Given the description of an element on the screen output the (x, y) to click on. 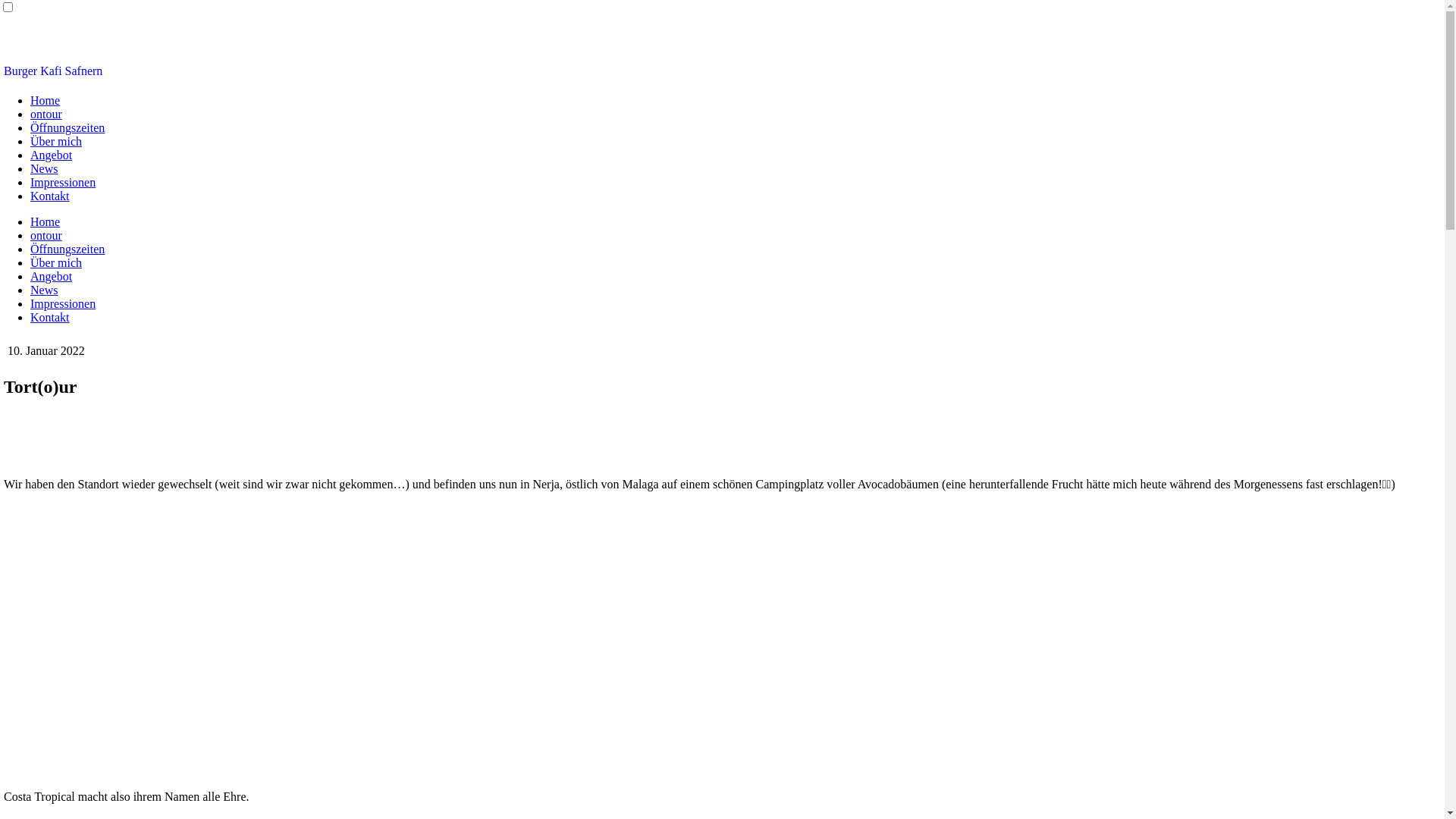
ontour Element type: text (46, 235)
Home Element type: text (44, 221)
Impressionen Element type: text (62, 181)
ontour Element type: text (46, 113)
News Element type: text (43, 168)
Impressionen Element type: text (62, 303)
Kontakt Element type: text (49, 316)
Burger Kafi Safnern Element type: text (52, 70)
News Element type: text (43, 289)
Angebot Element type: text (51, 275)
Home Element type: text (44, 100)
Angebot Element type: text (51, 154)
Kontakt Element type: text (49, 195)
